Given the description of an element on the screen output the (x, y) to click on. 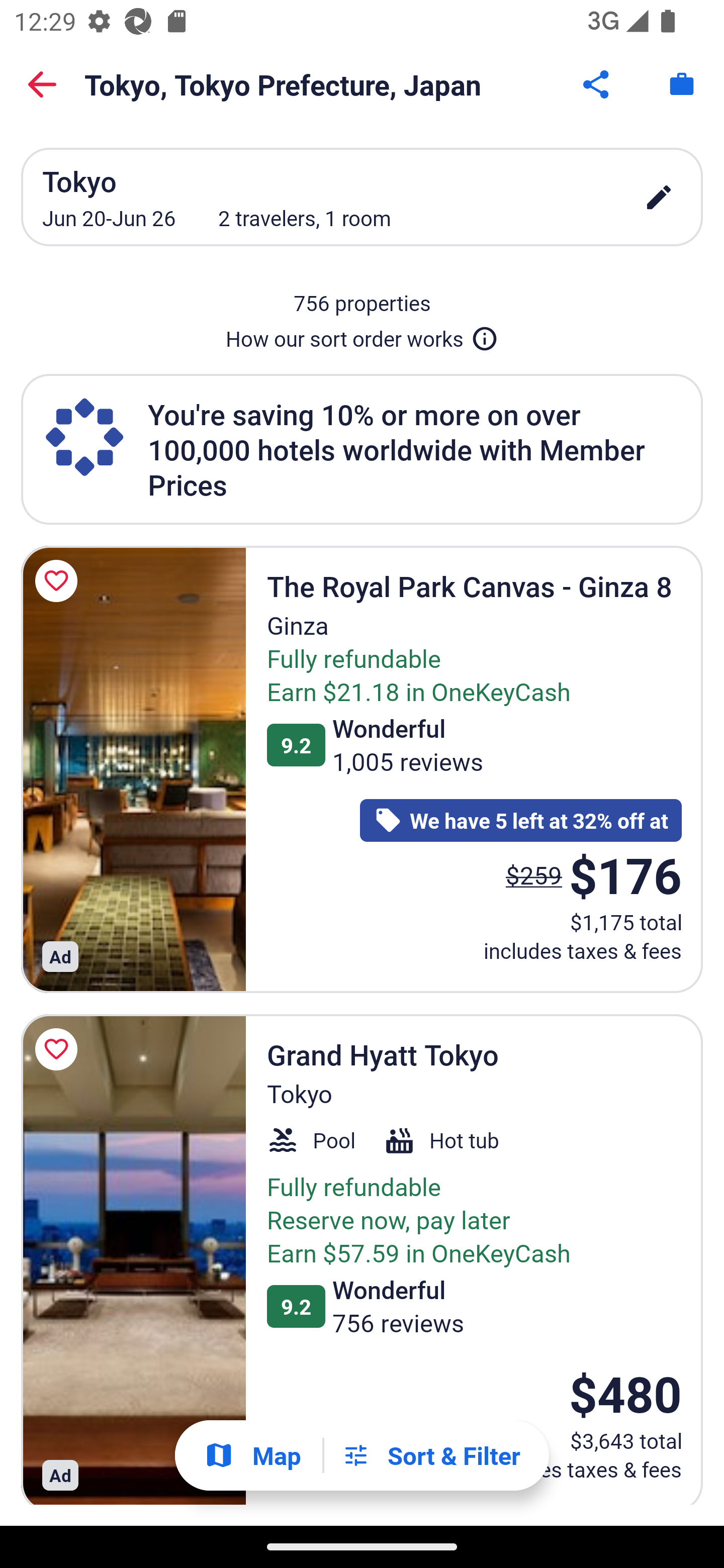
Back (42, 84)
Share Button (597, 84)
Trips. Button (681, 84)
Tokyo Jun 20-Jun 26 2 travelers, 1 room edit (361, 196)
How our sort order works (361, 334)
Save The Royal Park Canvas - Ginza 8 to a trip (59, 580)
The Royal Park Canvas - Ginza 8 (133, 768)
$259 The price was $259 (533, 874)
Save Grand Hyatt Tokyo to a trip (59, 1048)
Grand Hyatt Tokyo (133, 1259)
Filters Sort & Filter Filters Button (430, 1455)
Show map Map Show map Button (252, 1455)
